Given the description of an element on the screen output the (x, y) to click on. 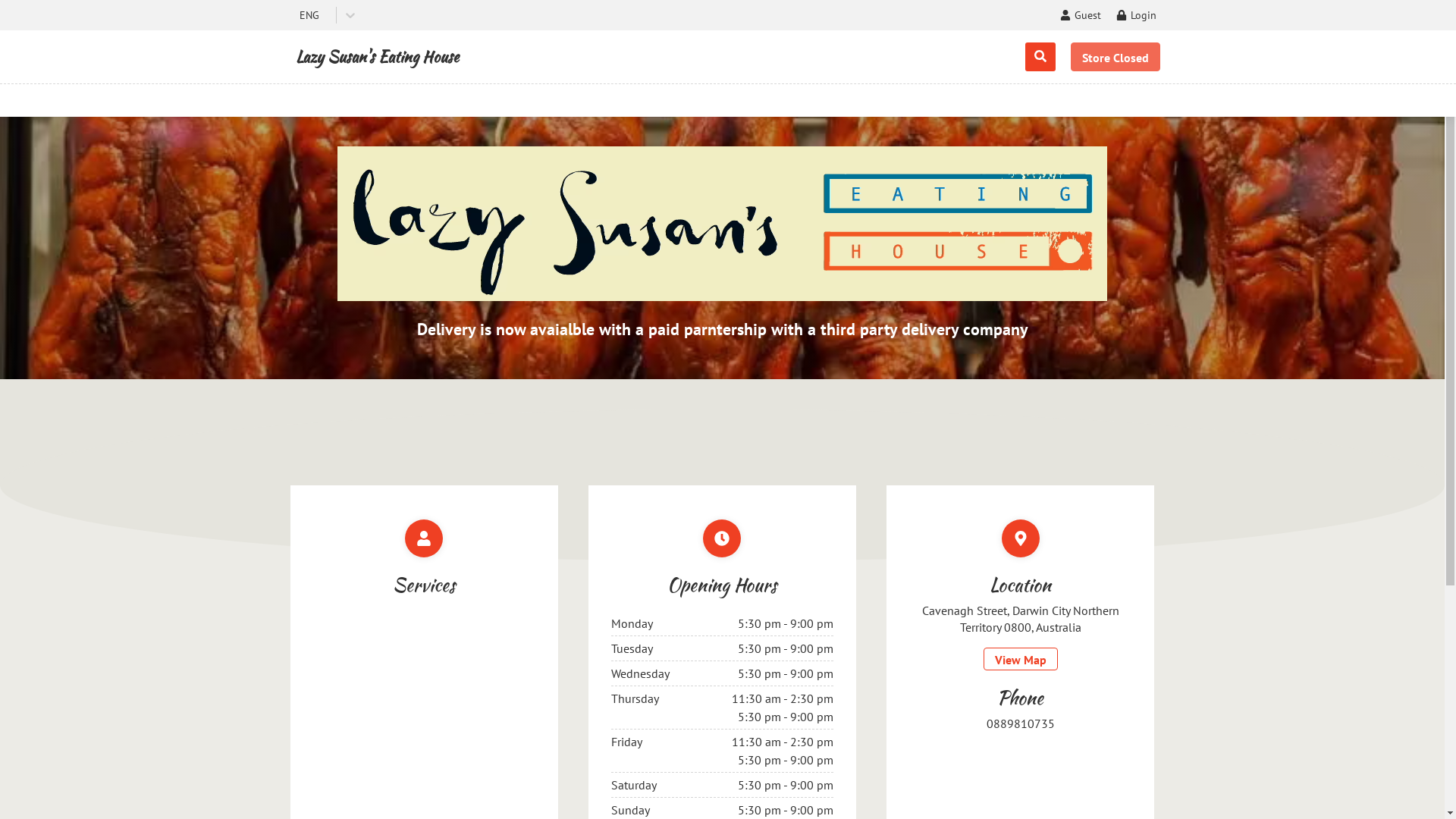
Lazy Susan's Eating House Element type: text (376, 56)
Store Closed Element type: text (1115, 56)
View Map Element type: text (1020, 658)
